Given the description of an element on the screen output the (x, y) to click on. 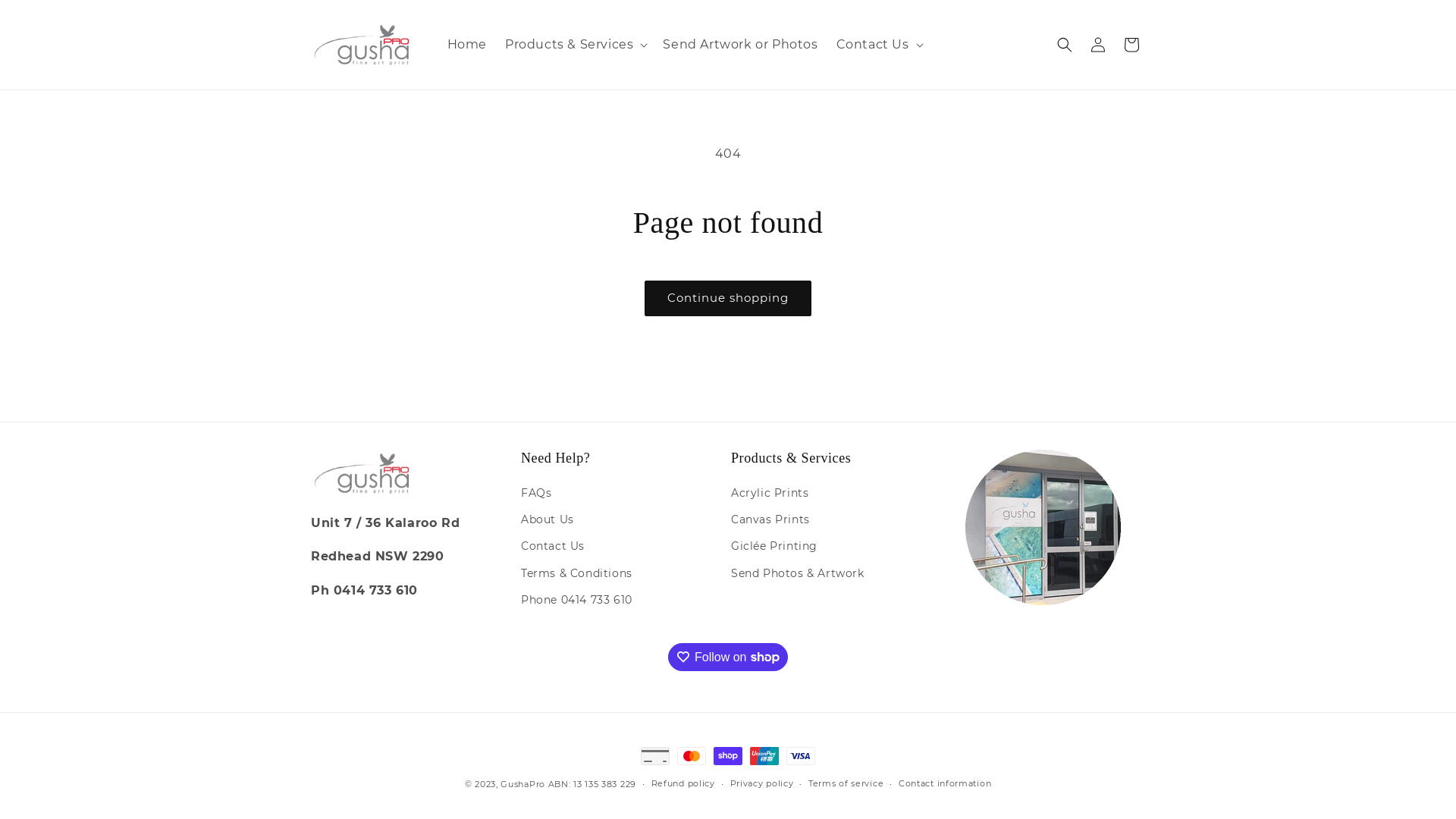
FAQs Element type: text (535, 494)
About Us Element type: text (547, 519)
ABN: 13 135 383 229 Element type: text (592, 783)
Log in Element type: text (1097, 44)
Refund policy Element type: text (683, 783)
Contact information Element type: text (944, 783)
Contact Us Element type: text (552, 546)
Privacy policy Element type: text (761, 783)
GushaPro Element type: text (522, 783)
Acrylic Prints Element type: text (769, 494)
Canvas Prints Element type: text (770, 519)
Cart Element type: text (1131, 44)
Continue shopping Element type: text (727, 298)
Terms & Conditions Element type: text (576, 573)
Phone 0414 733 610 Element type: text (576, 599)
Terms of service Element type: text (845, 783)
Send Artwork or Photos Element type: text (739, 45)
Send Photos & Artwork Element type: text (797, 573)
Home Element type: text (466, 45)
